Given the description of an element on the screen output the (x, y) to click on. 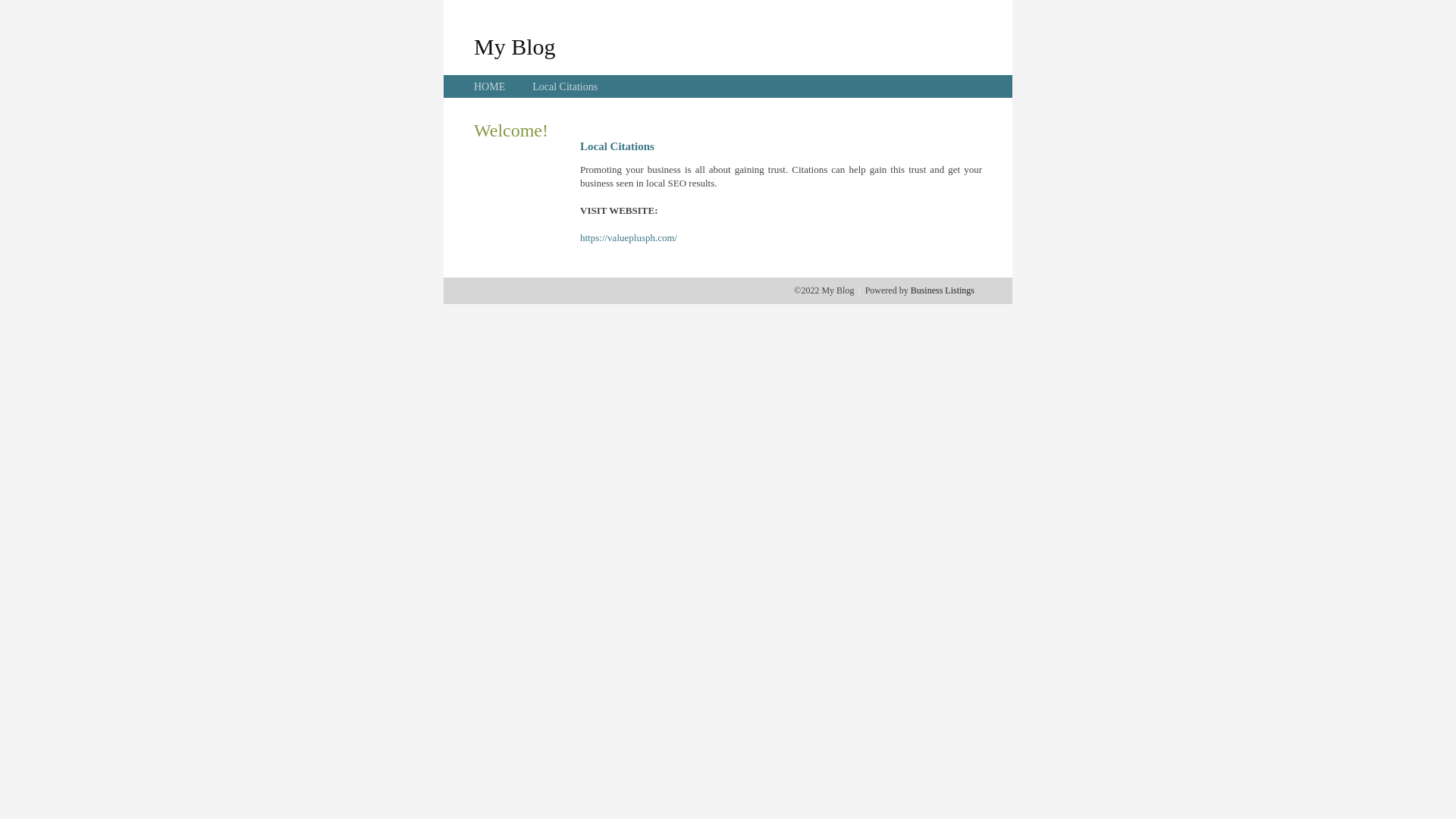
https://valueplusph.com/ Element type: text (628, 237)
HOME Element type: text (489, 86)
My Blog Element type: text (514, 46)
Local Citations Element type: text (564, 86)
Business Listings Element type: text (942, 290)
